Given the description of an element on the screen output the (x, y) to click on. 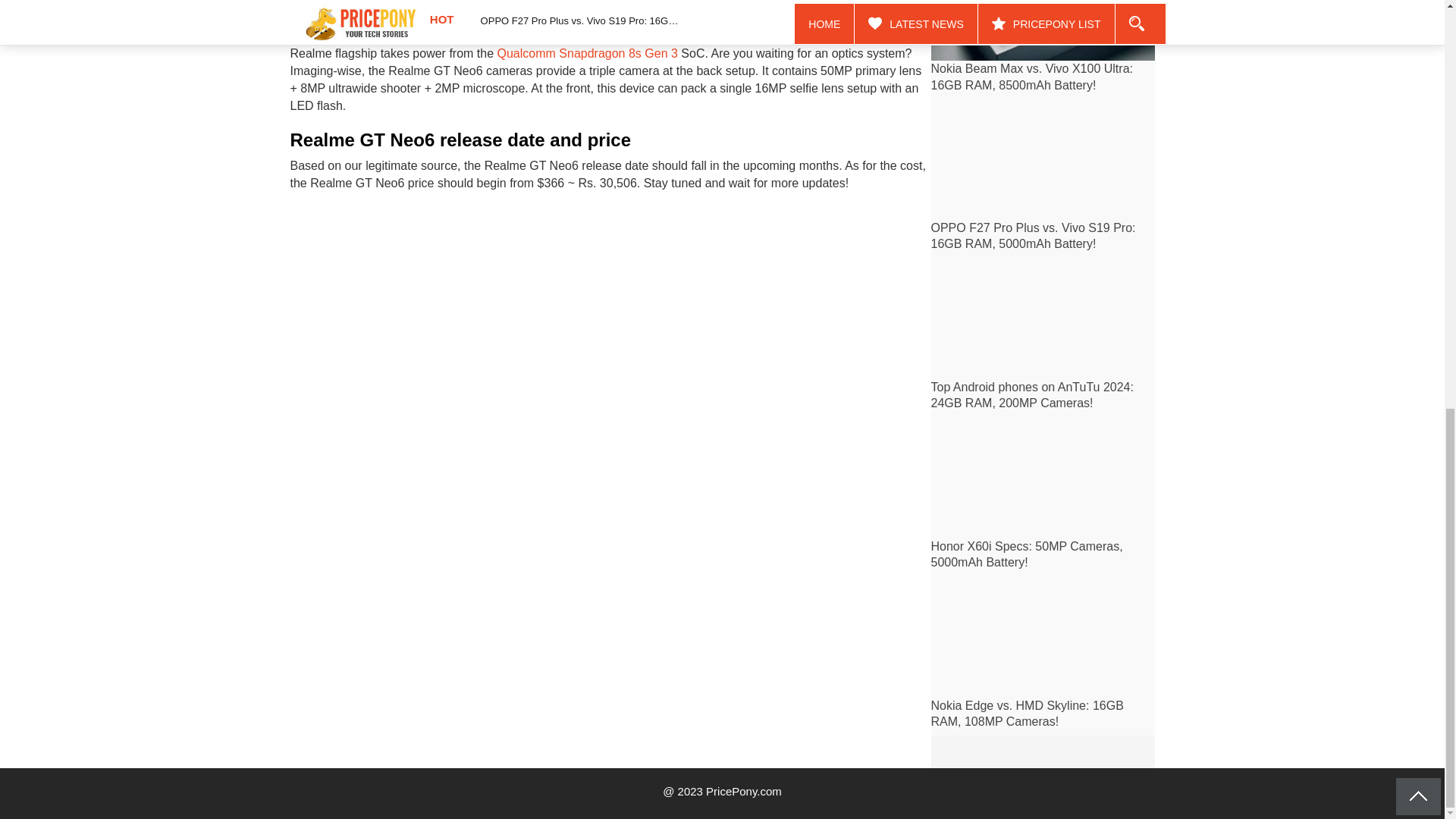
Top Android phones on AnTuTu 2024: 24GB RAM, 200MP Cameras! (1032, 394)
Nokia Edge vs. HMD Skyline: 16GB RAM, 108MP Cameras! (1027, 713)
Qualcomm Snapdragon 8s Gen 3 (587, 52)
Honor X60i Specs: 50MP Cameras, 5000mAh Battery! (1026, 553)
